Given the description of an element on the screen output the (x, y) to click on. 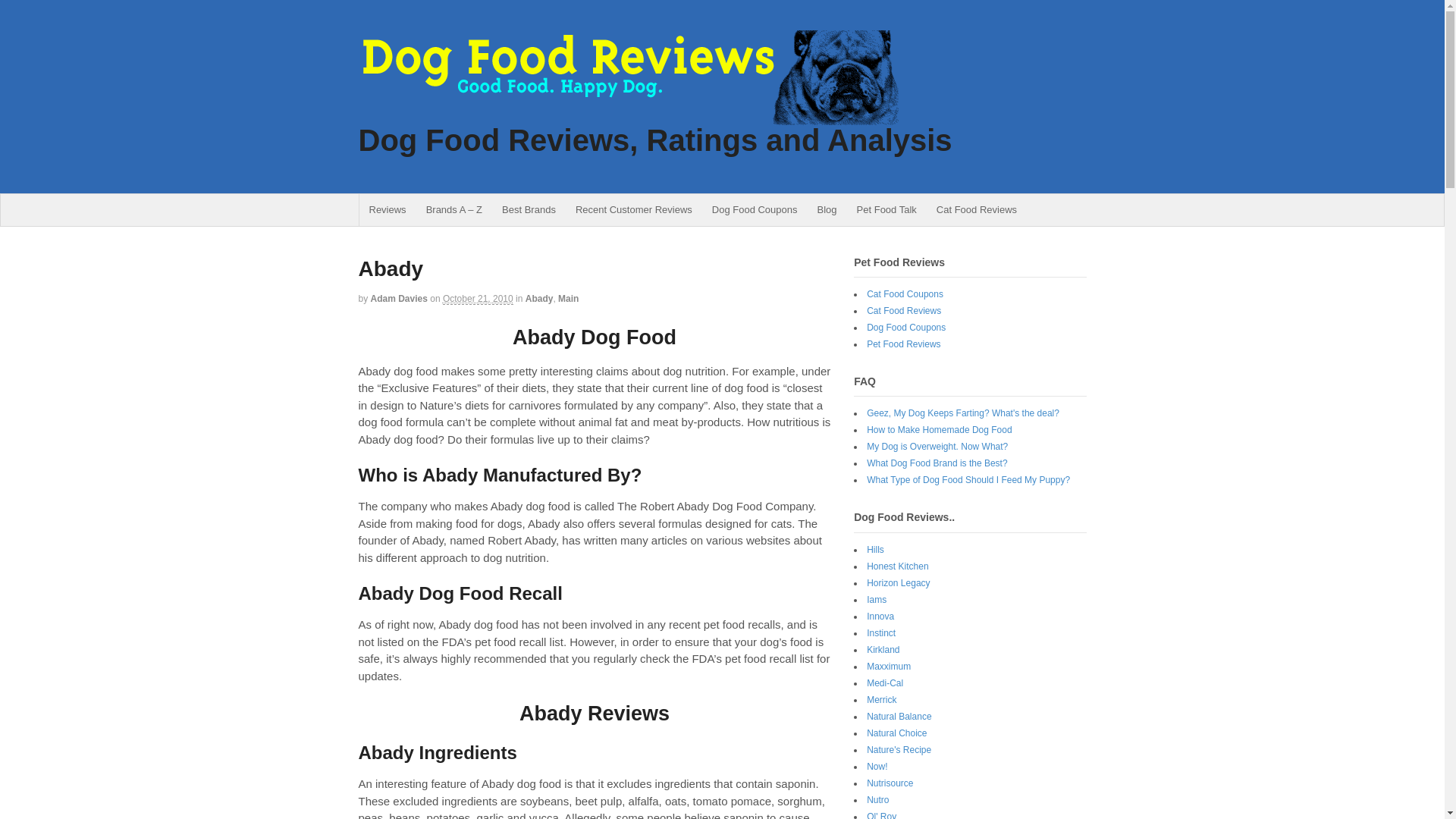
View all items in Main (567, 298)
Pet Food Talk (886, 210)
Kirkland (882, 649)
Geez, My Dog Keeps Farting? What's the deal? (962, 412)
Recent Customer Reviews (633, 210)
Medi-Cal (884, 683)
Pet Food Reviews (903, 344)
2010-10-21T01:58:19-0400 (477, 298)
Reviews (387, 210)
Horizon Legacy (898, 583)
What Dog Food Brand is the Best? (936, 462)
Hills (874, 549)
Iams (876, 599)
Merrick (881, 699)
View all items in Abady (539, 298)
